Given the description of an element on the screen output the (x, y) to click on. 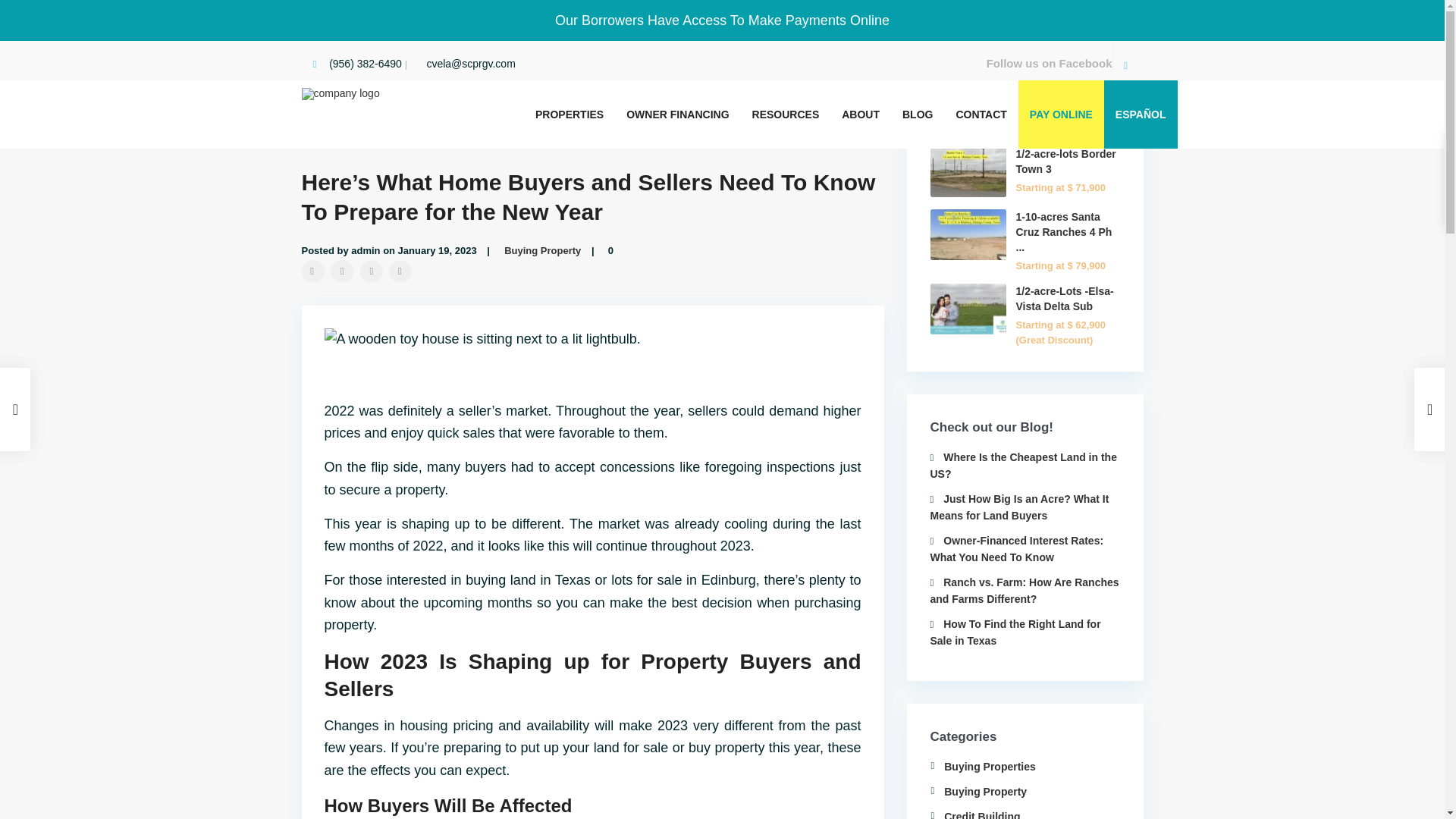
PROPERTIES (569, 114)
OWNER FINANCING (676, 114)
